Given the description of an element on the screen output the (x, y) to click on. 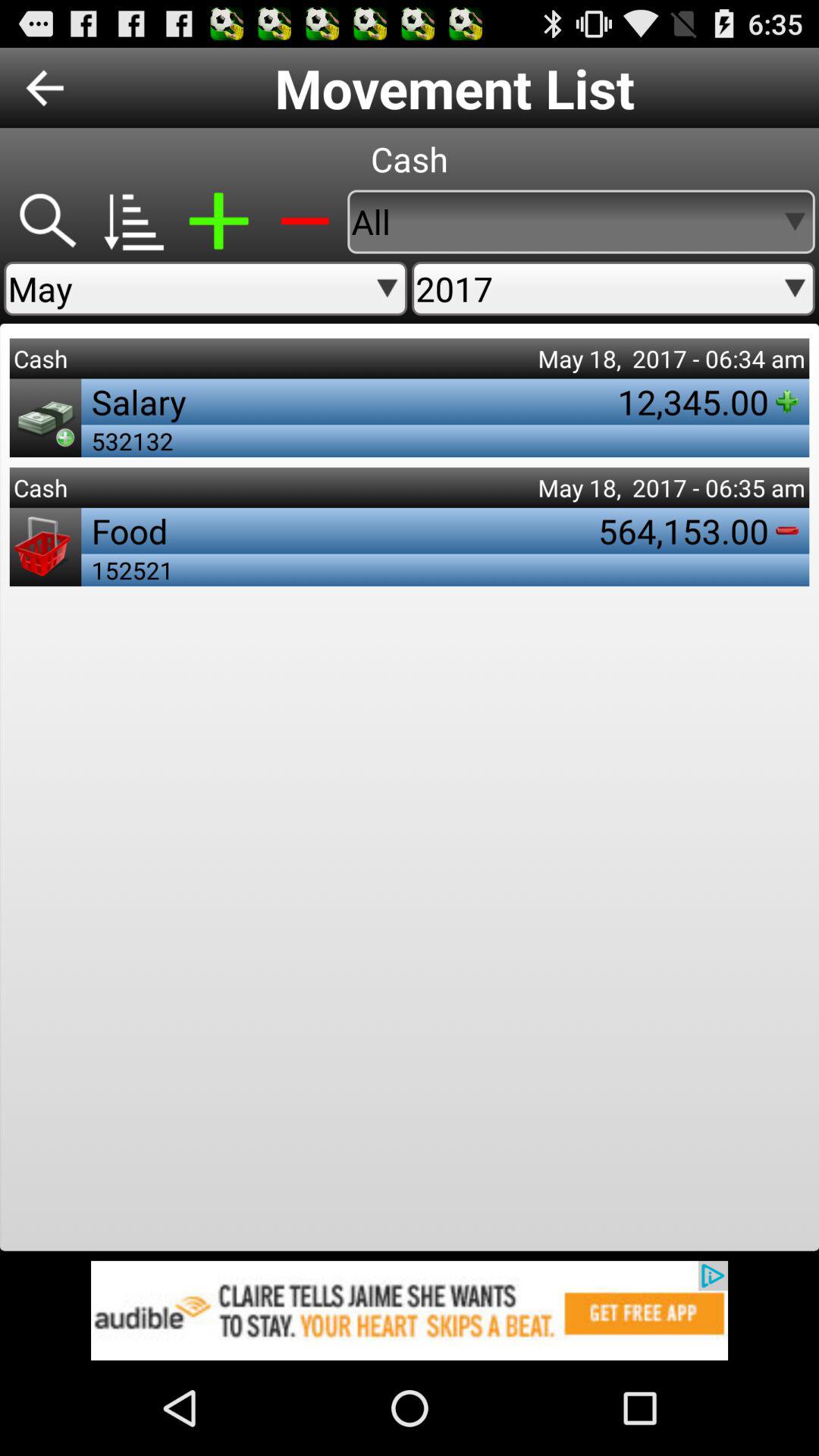
open an advertisement (409, 1310)
